Given the description of an element on the screen output the (x, y) to click on. 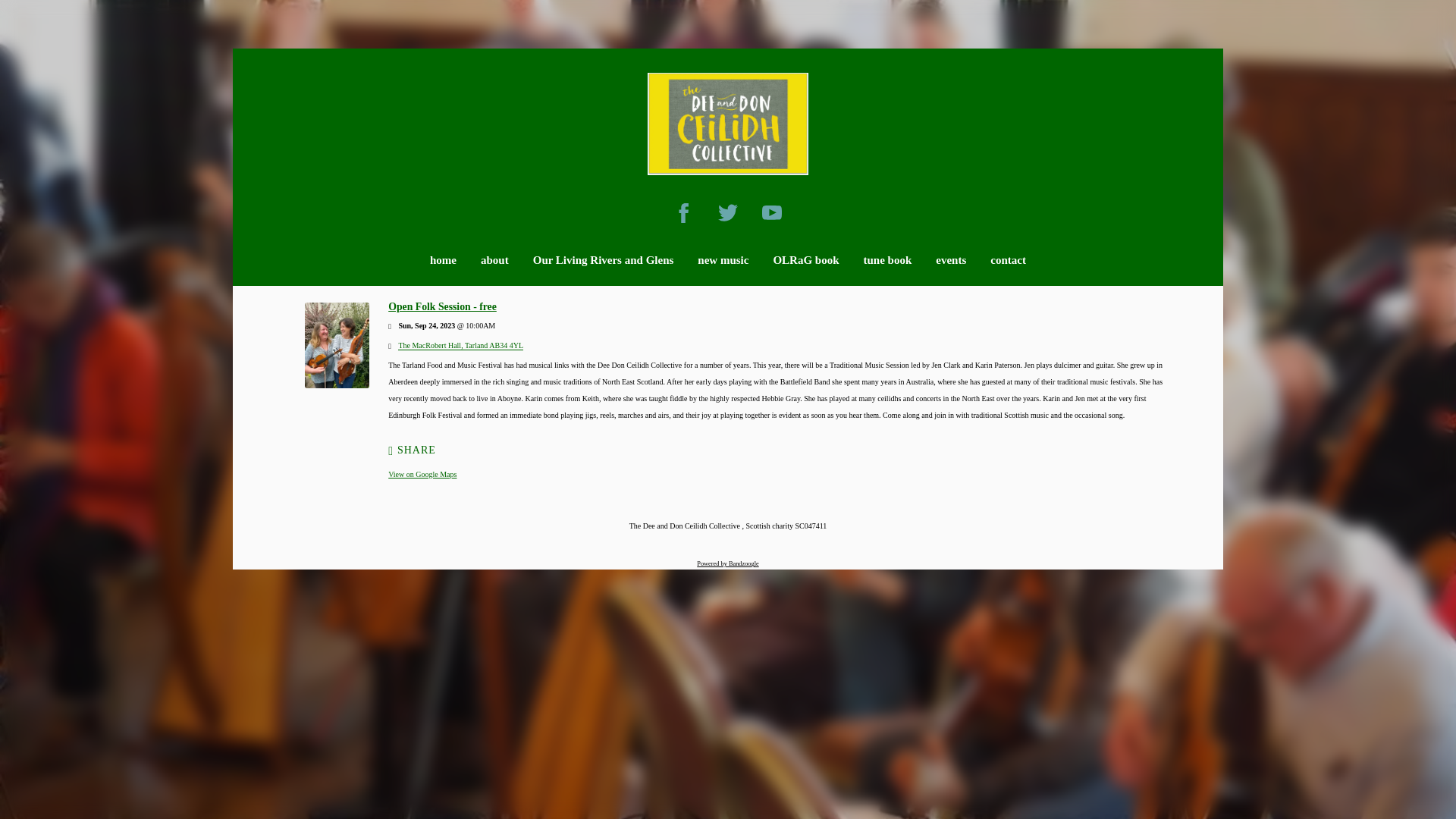
Our Living Rivers and Glens (603, 260)
Visit venue website (459, 345)
home (443, 260)
SHARE (411, 450)
events (951, 260)
about (494, 260)
Open Folk Session - free (336, 385)
OLRaG book (805, 260)
Open Folk Session - free (442, 306)
View on Google Maps (422, 474)
The MacRobert Hall, Tarland AB34 4YL (459, 345)
tune book (887, 260)
new music (722, 260)
Powered by Bandzoogle (727, 563)
Powered by Bandzoogle (727, 563)
